Given the description of an element on the screen output the (x, y) to click on. 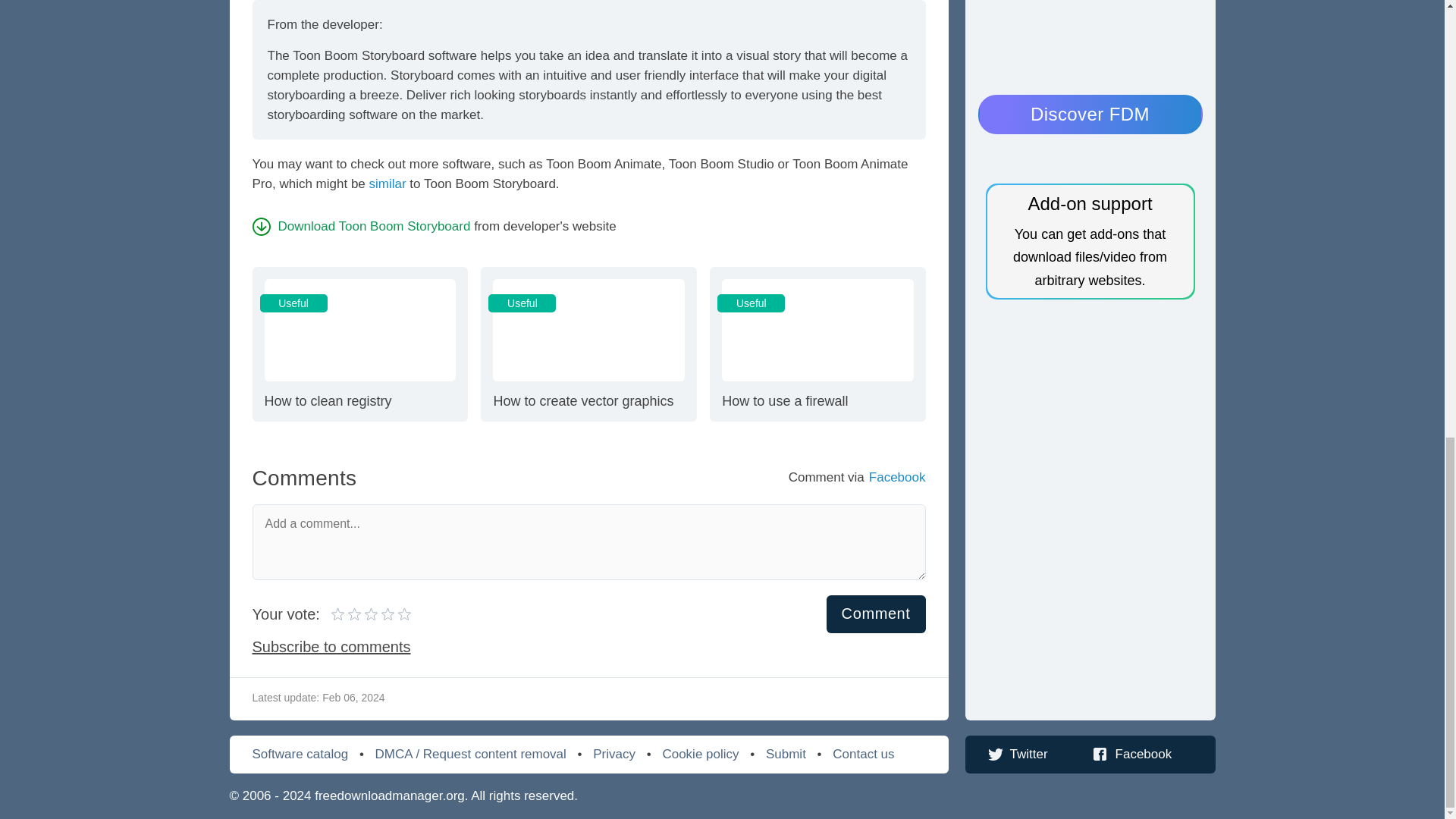
1 (817, 343)
4 (338, 613)
Download Toon Boom Storyboard (587, 343)
similar (363, 613)
Comment (360, 226)
2 (387, 183)
5 (876, 613)
